Given the description of an element on the screen output the (x, y) to click on. 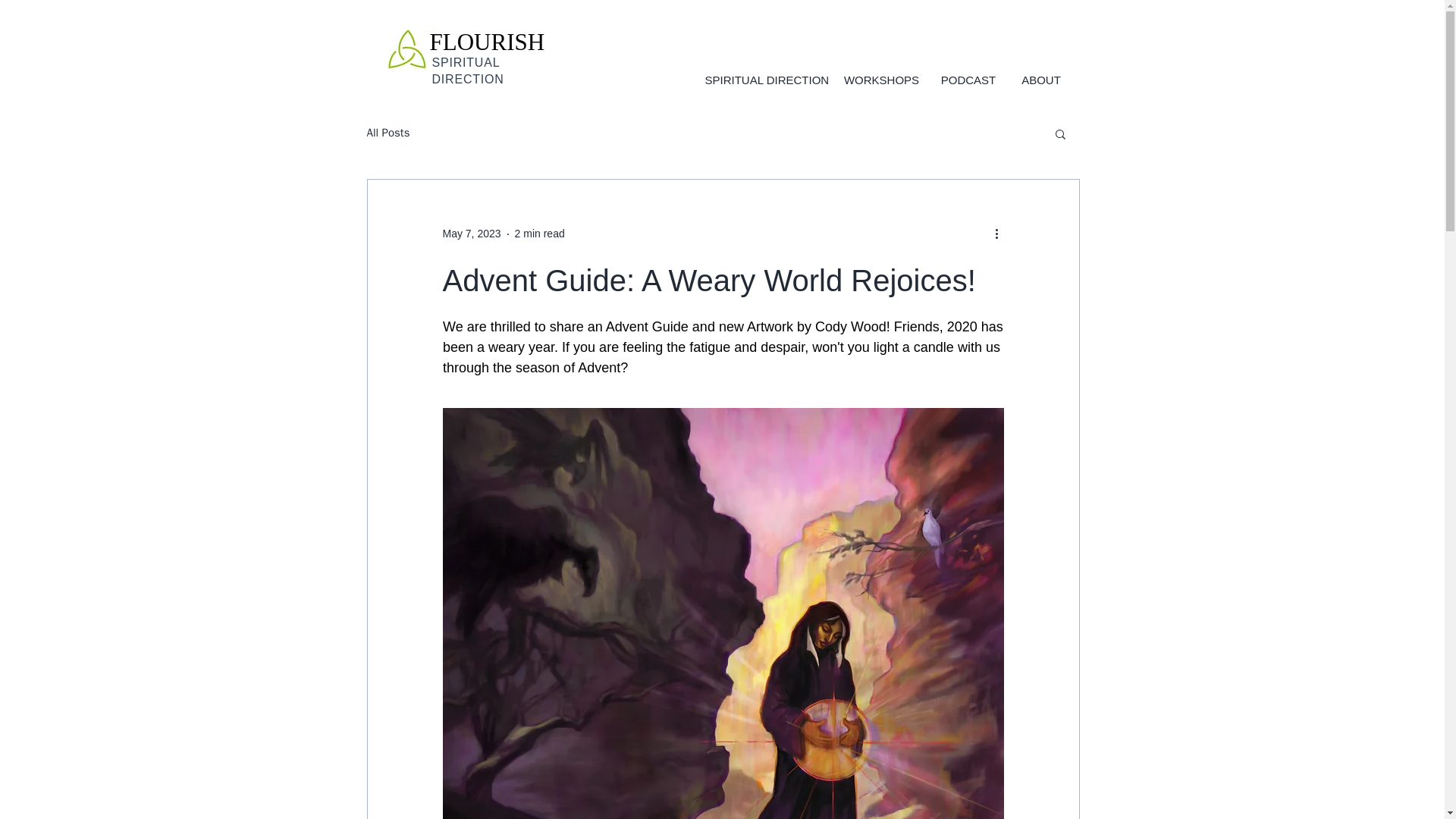
2 min read (539, 233)
ABOUT (1041, 80)
WORKSHOPS (880, 80)
SPIRITUAL DIRECTION (766, 80)
PODCAST (968, 80)
May 7, 2023 (471, 233)
All Posts (388, 133)
